Given the description of an element on the screen output the (x, y) to click on. 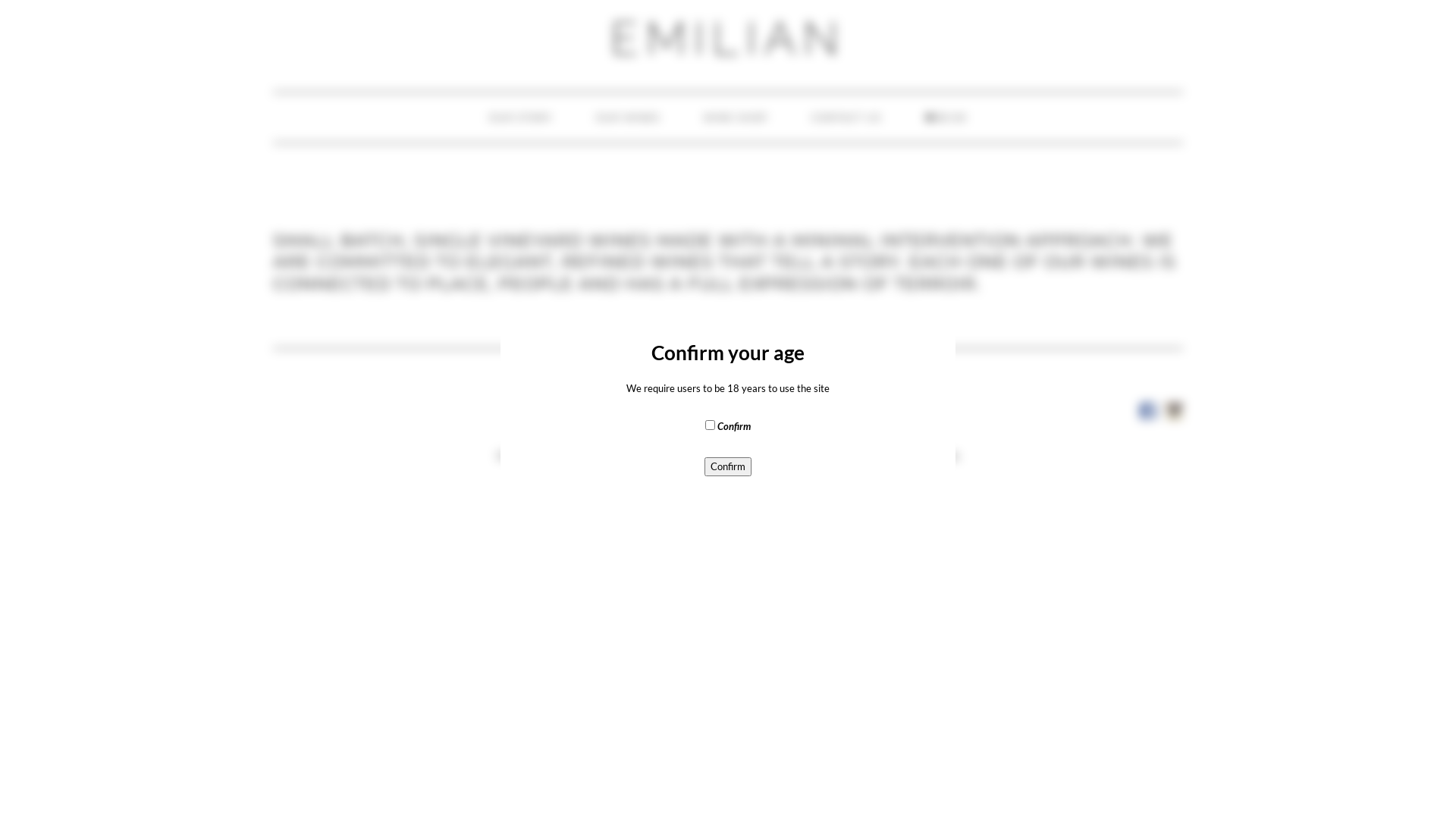
EMILIAN Element type: text (727, 38)
WINE SHOP Element type: text (735, 117)
OUR WINES Element type: text (627, 117)
$0.00 Element type: text (945, 117)
Follow Us on Facebook Element type: hover (1148, 410)
CONTACT US Element type: text (846, 117)
Confirm Element type: text (727, 466)
OUR STORY Element type: text (520, 117)
Follow Us on Instagram Element type: hover (1173, 410)
Kale Element type: text (681, 477)
